Given the description of an element on the screen output the (x, y) to click on. 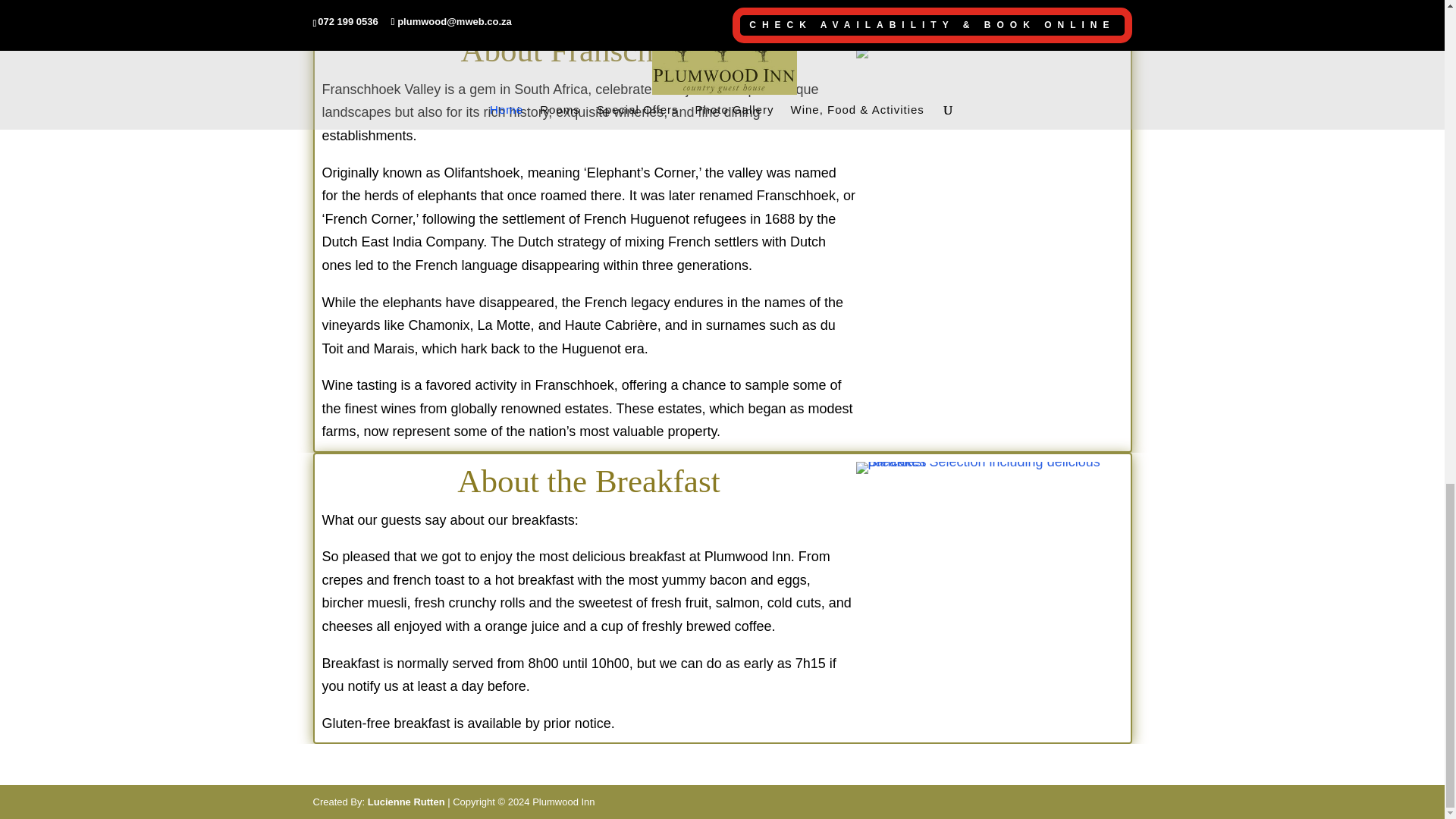
Breakfast Selection including delicious pancakes (989, 461)
Breakfast Selection including delicious pancakes (989, 467)
Franschhoek Valley, Cape Winelands, South Africa (989, 37)
Franschhoek Valley, Cape Winelands, South Africa (989, 30)
Lucienne Rutten (406, 801)
